Given the description of an element on the screen output the (x, y) to click on. 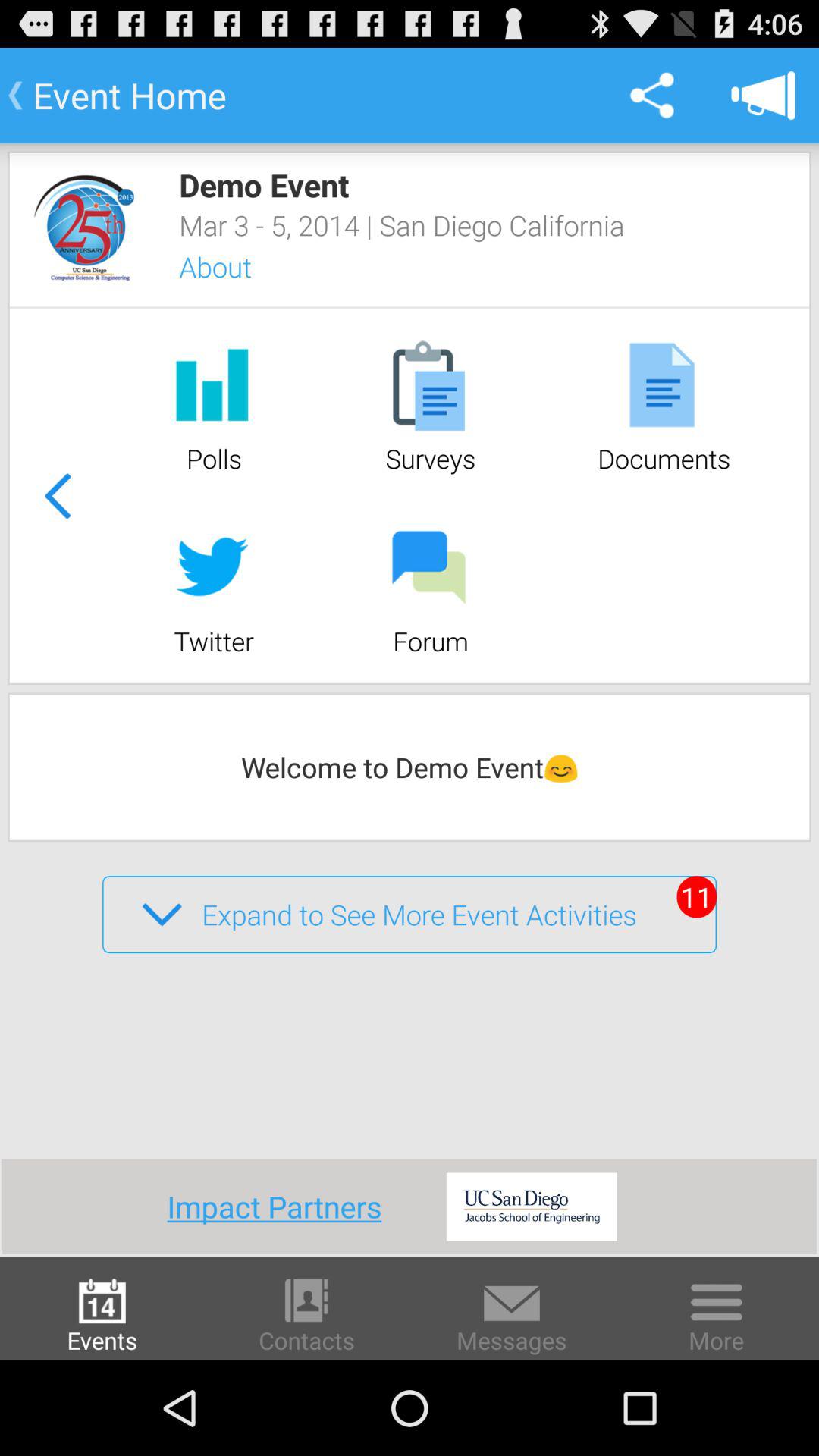
event/company image link (84, 227)
